Given the description of an element on the screen output the (x, y) to click on. 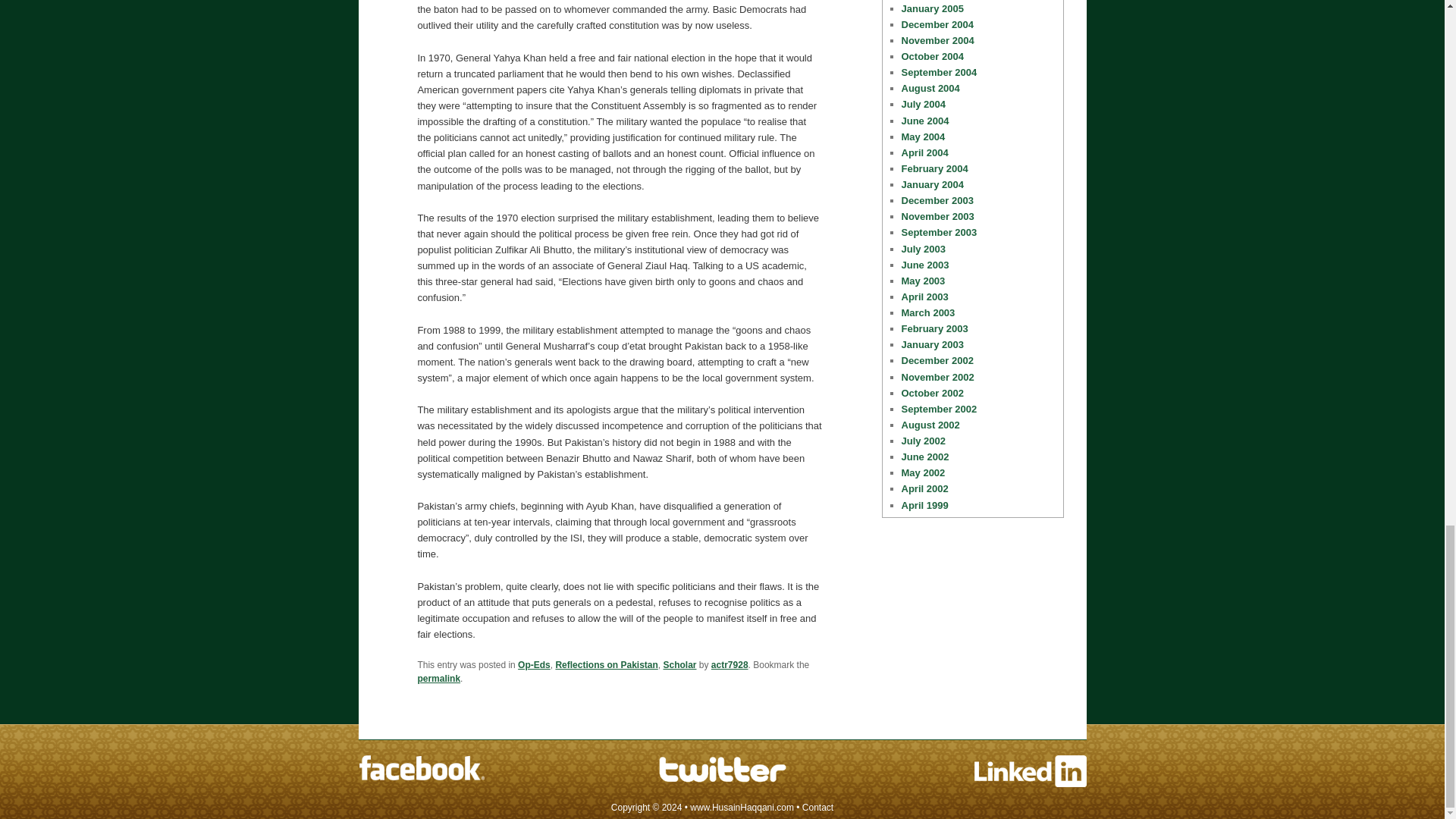
Scholar (678, 665)
permalink (438, 678)
actr7928 (729, 665)
Reflections on Pakistan (606, 665)
Permalink to Another Surreal Election (438, 678)
Op-Eds (534, 665)
